Given the description of an element on the screen output the (x, y) to click on. 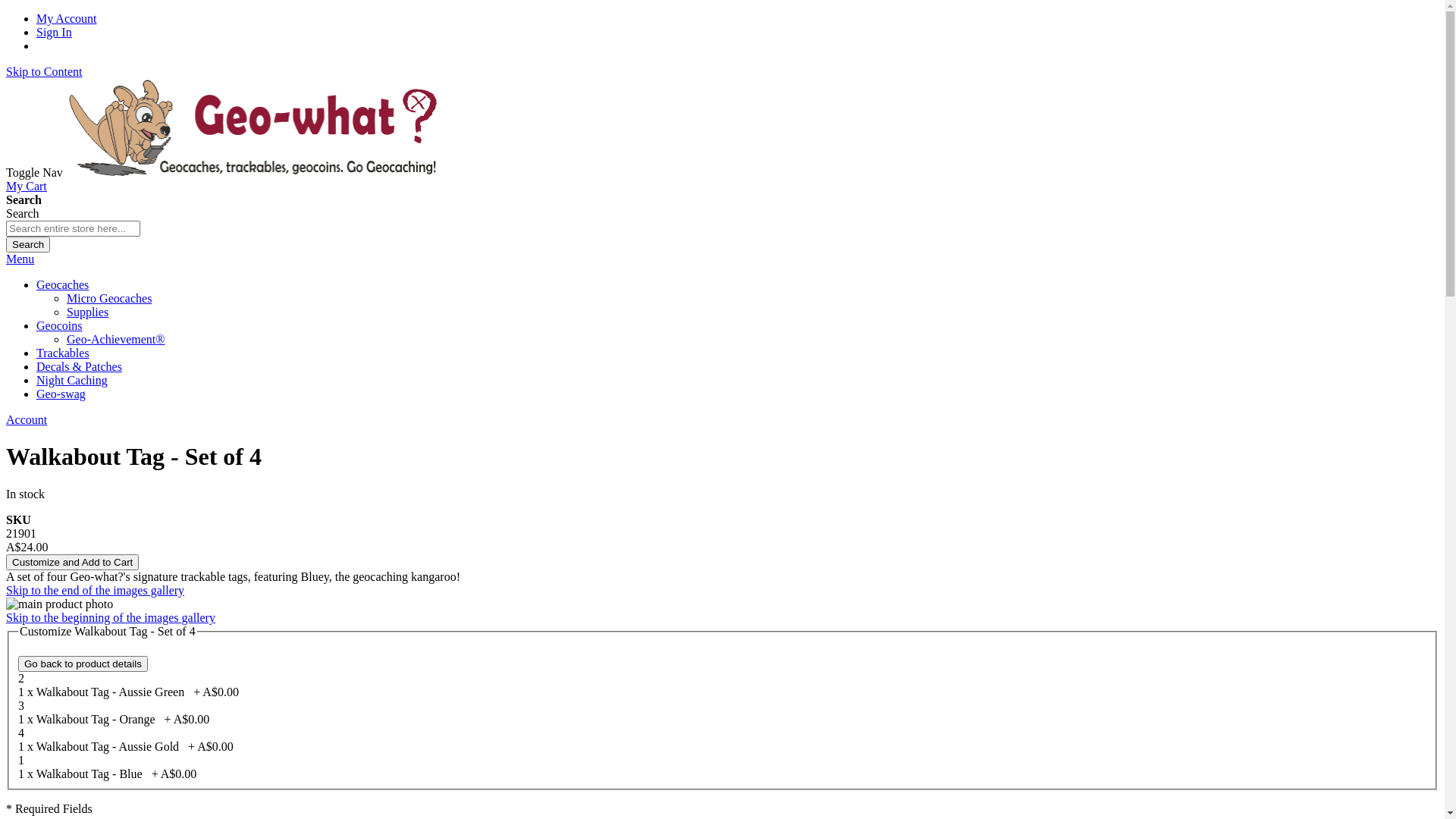
Geocoins Element type: text (58, 325)
Skip to Content Element type: text (43, 71)
Geo-swag Element type: text (60, 393)
Customize and Add to Cart Element type: text (72, 562)
Geo-what? Element type: hover (255, 172)
Night Caching Element type: text (71, 379)
Trackables Element type: text (62, 352)
Search Element type: text (28, 244)
Skip to the beginning of the images gallery Element type: text (110, 617)
Geocaches Element type: text (62, 284)
My Cart Element type: text (26, 185)
My Account Element type: text (66, 18)
Decals & Patches Element type: text (79, 366)
Supplies Element type: text (87, 311)
Geo-what? Element type: hover (255, 127)
Account Element type: text (26, 419)
Micro Geocaches Element type: text (108, 297)
Sign In Element type: text (54, 31)
Menu Element type: text (20, 258)
Skip to the end of the images gallery Element type: text (95, 589)
Go back to product details Element type: text (82, 663)
